Given the description of an element on the screen output the (x, y) to click on. 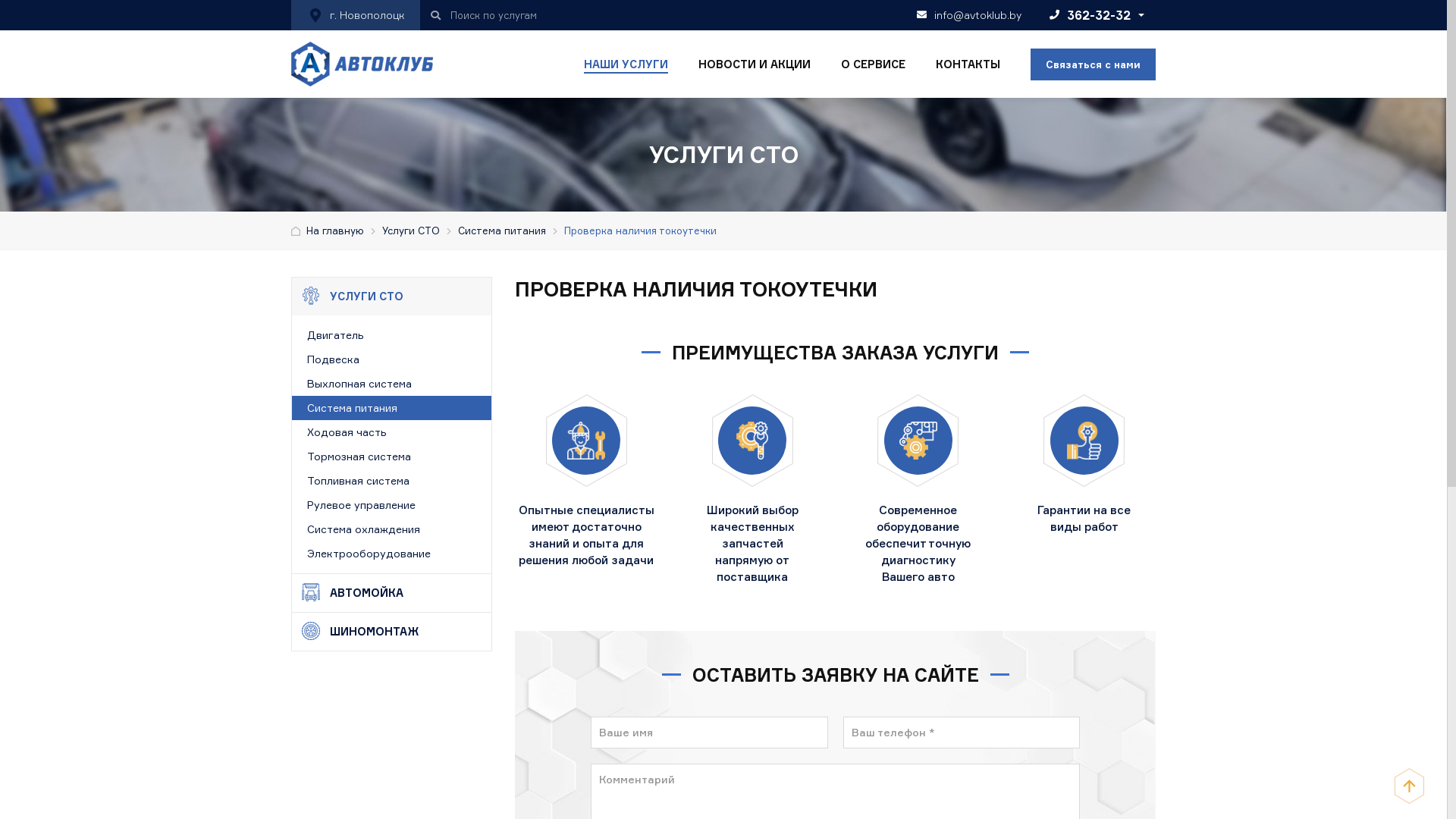
info@avtoklub.by Element type: text (966, 15)
